Given the description of an element on the screen output the (x, y) to click on. 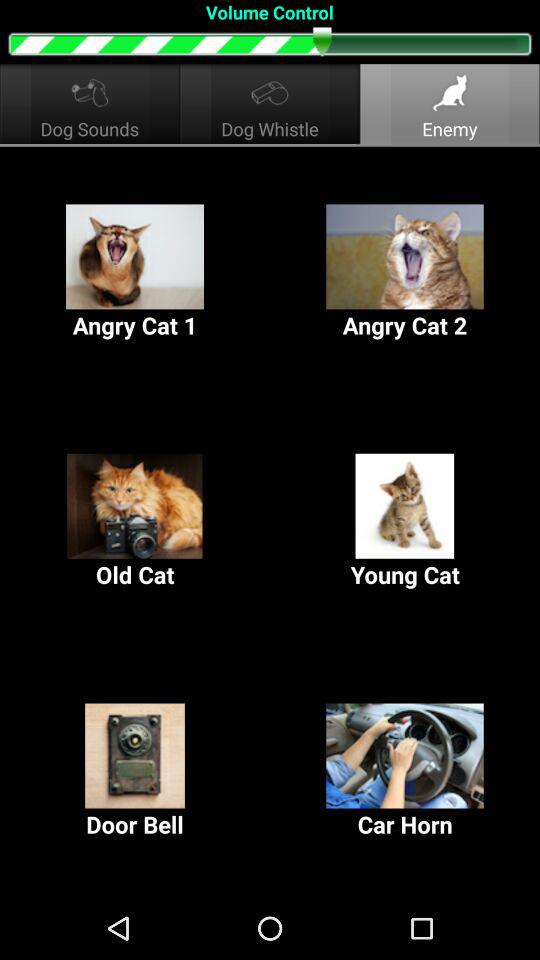
choose door bell at the bottom left corner (135, 771)
